Given the description of an element on the screen output the (x, y) to click on. 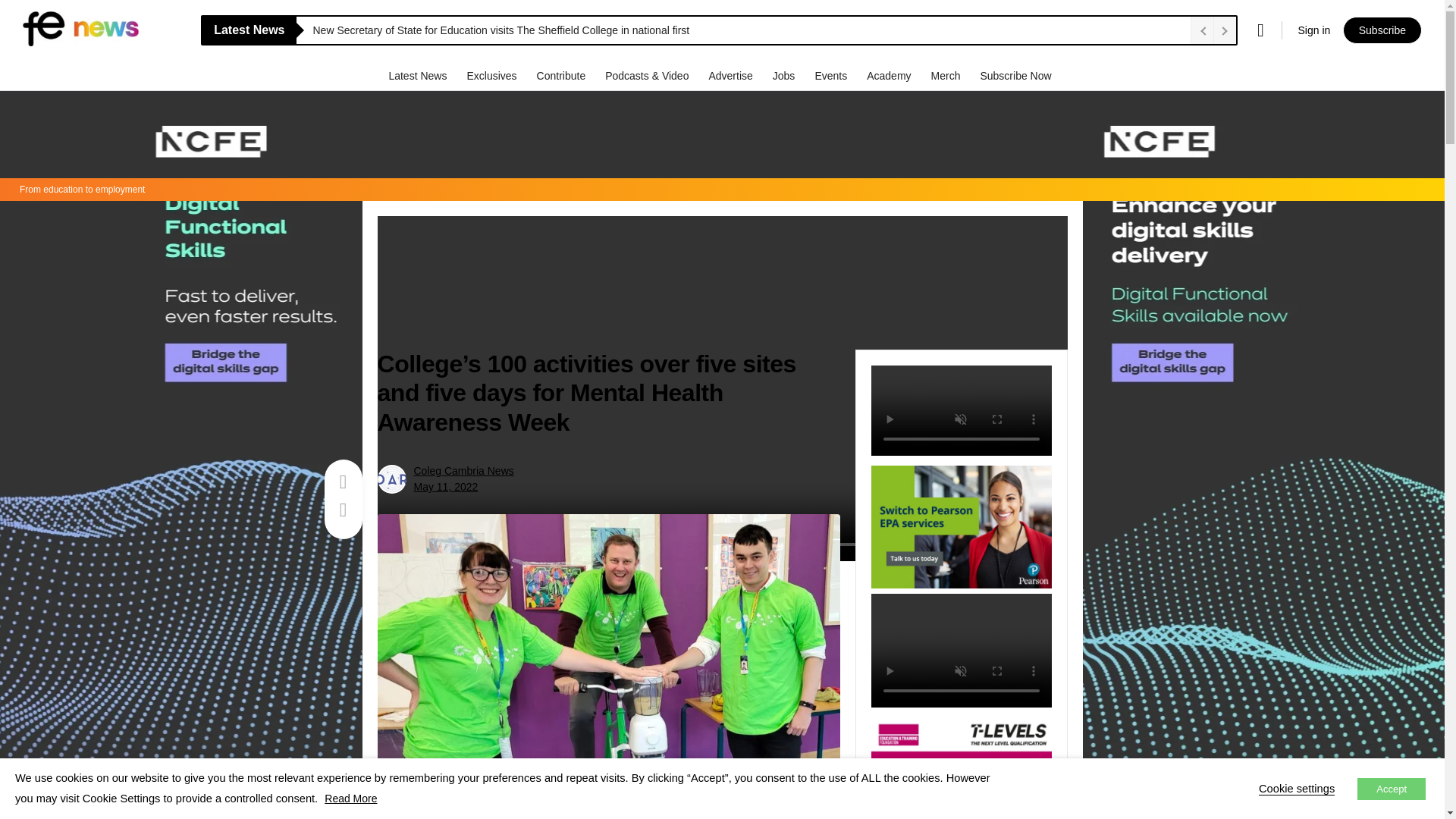
Exclusives (493, 75)
Latest News (419, 75)
Sign in (1313, 30)
Subscribe (1382, 30)
